Given the description of an element on the screen output the (x, y) to click on. 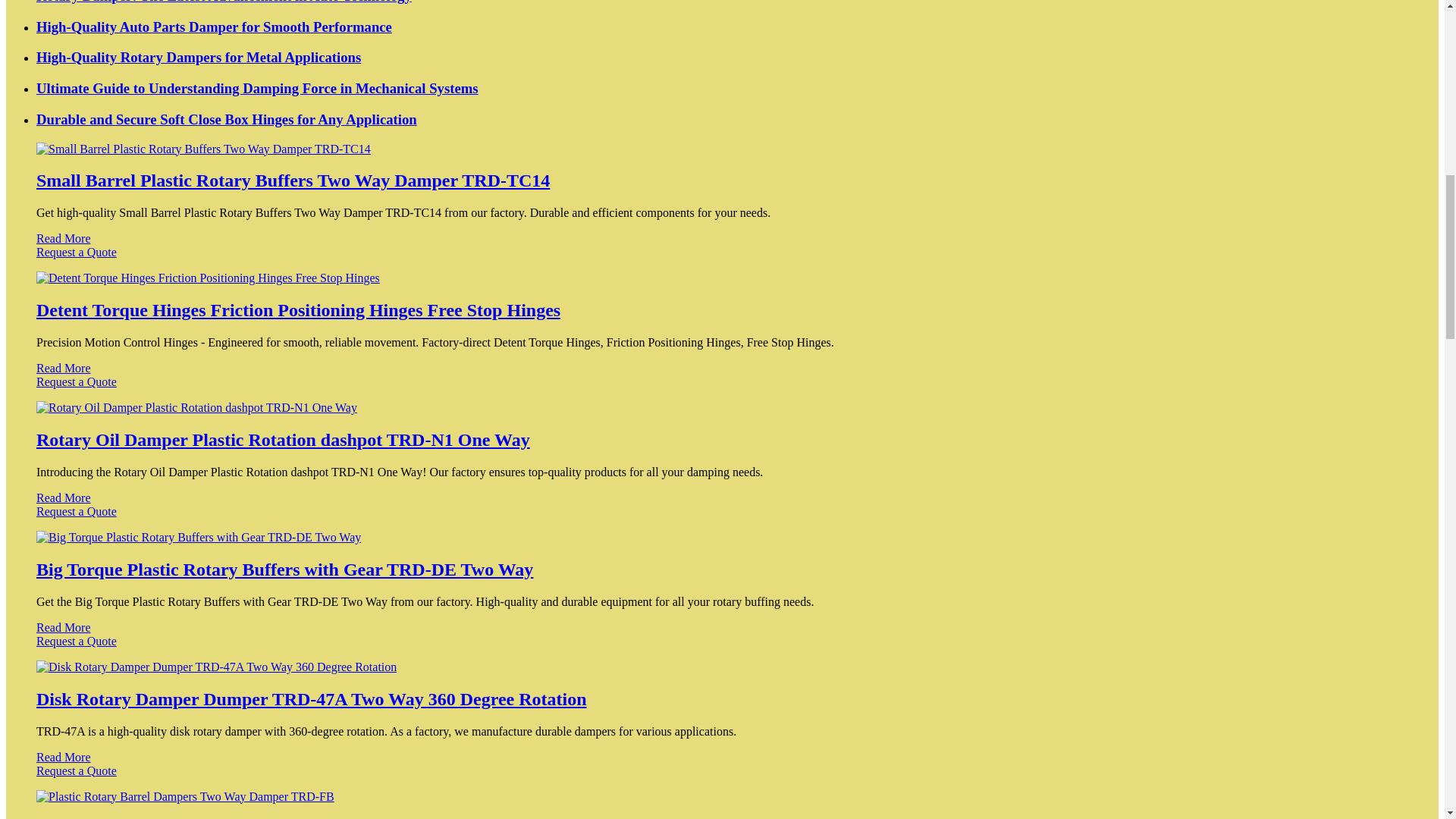
Read More (63, 237)
Read More (63, 367)
Read More (63, 497)
Rotary Oil Damper Plastic Rotation dashpot TRD-N1 One Way (282, 439)
Request a Quote (721, 258)
Request a Quote (721, 518)
Small Barrel Plastic Rotary Buffers Two Way Damper TRD-TC14 (293, 180)
Request a Quote (721, 388)
